Given the description of an element on the screen output the (x, y) to click on. 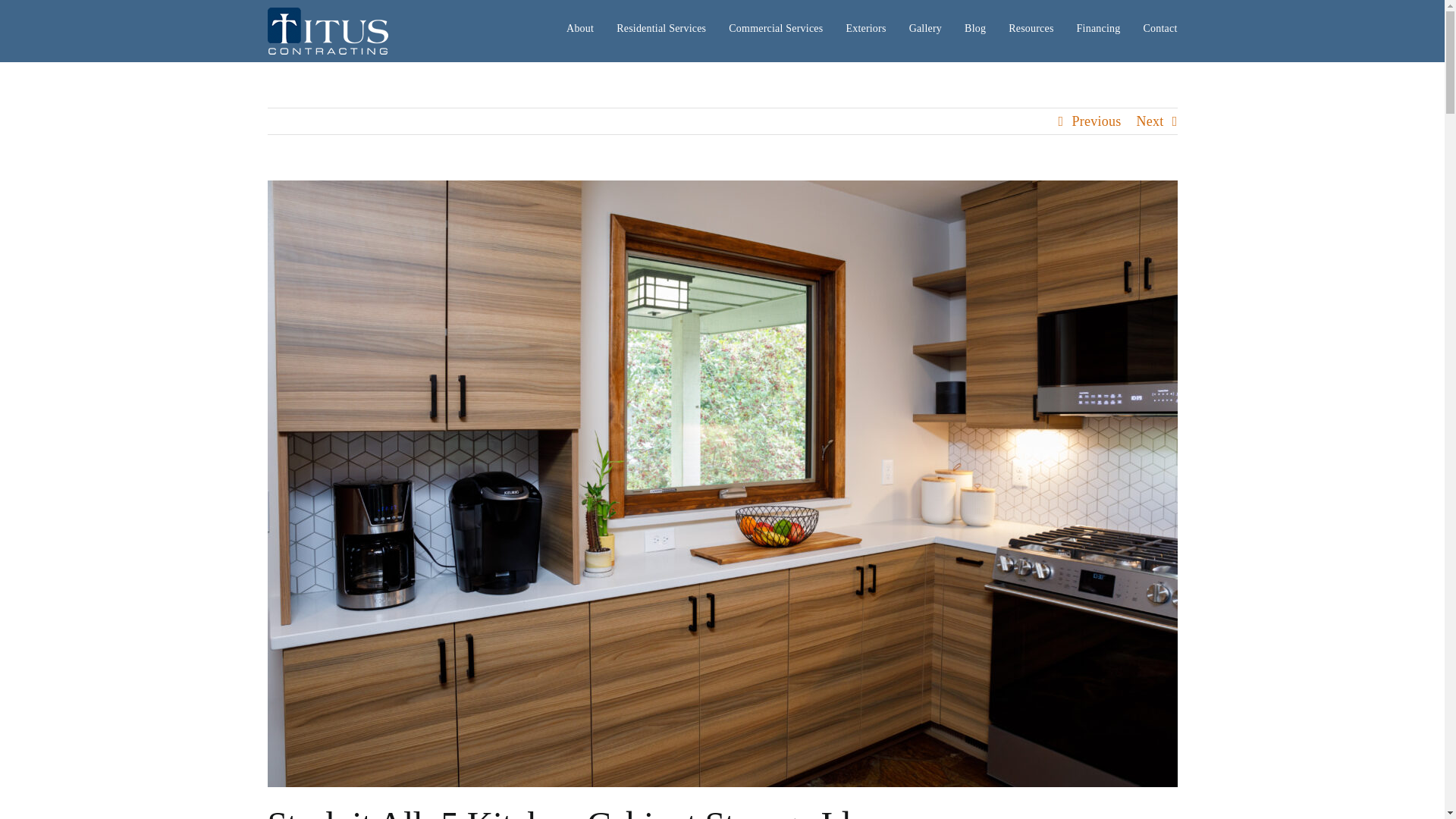
Residential Services (660, 27)
Commercial Services (775, 27)
